Given the description of an element on the screen output the (x, y) to click on. 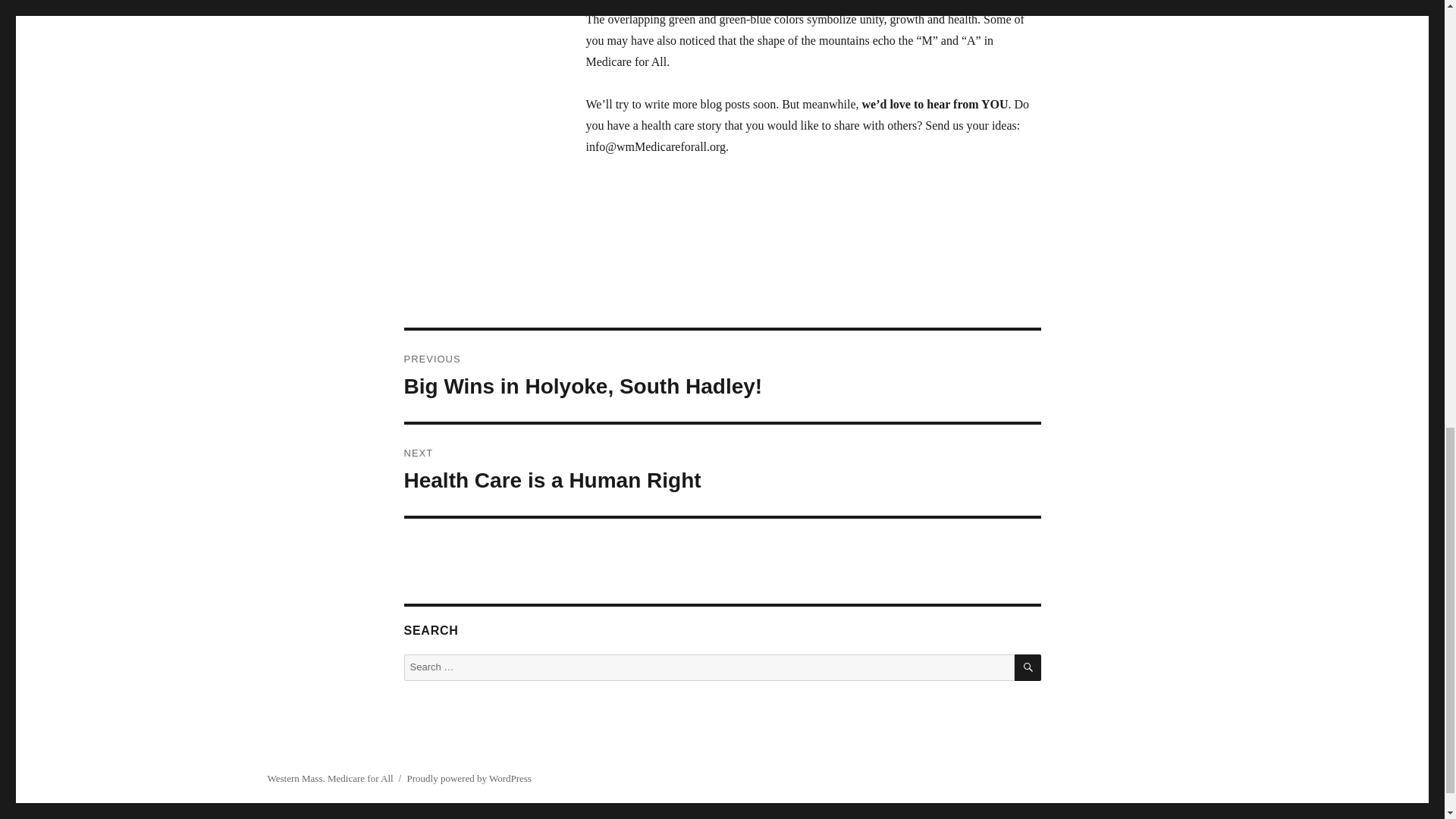
SEARCH (722, 375)
